Given the description of an element on the screen output the (x, y) to click on. 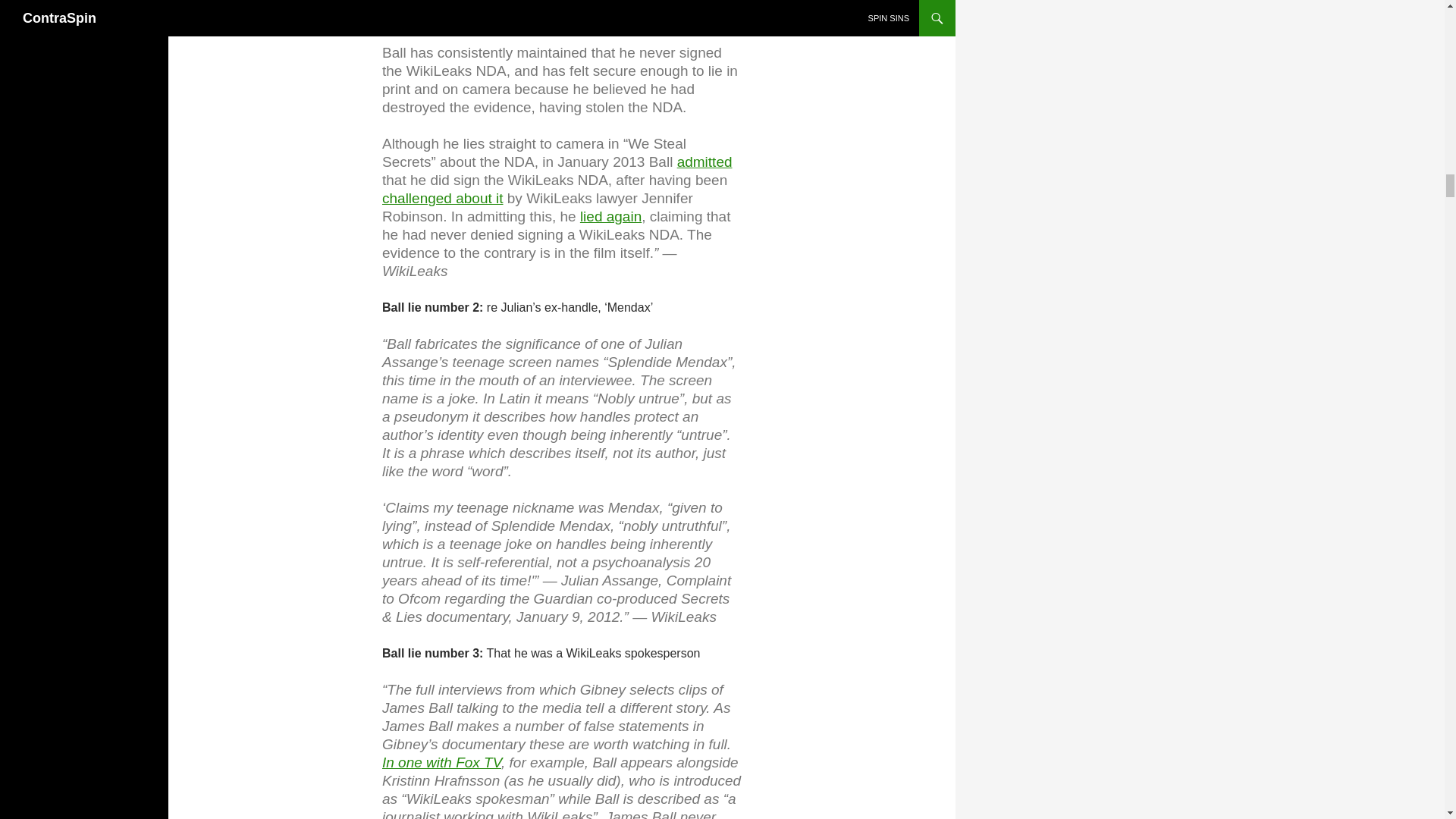
In one with Fox TV (440, 761)
lied again (610, 215)
admitted (704, 160)
challenged about it (442, 197)
